Given the description of an element on the screen output the (x, y) to click on. 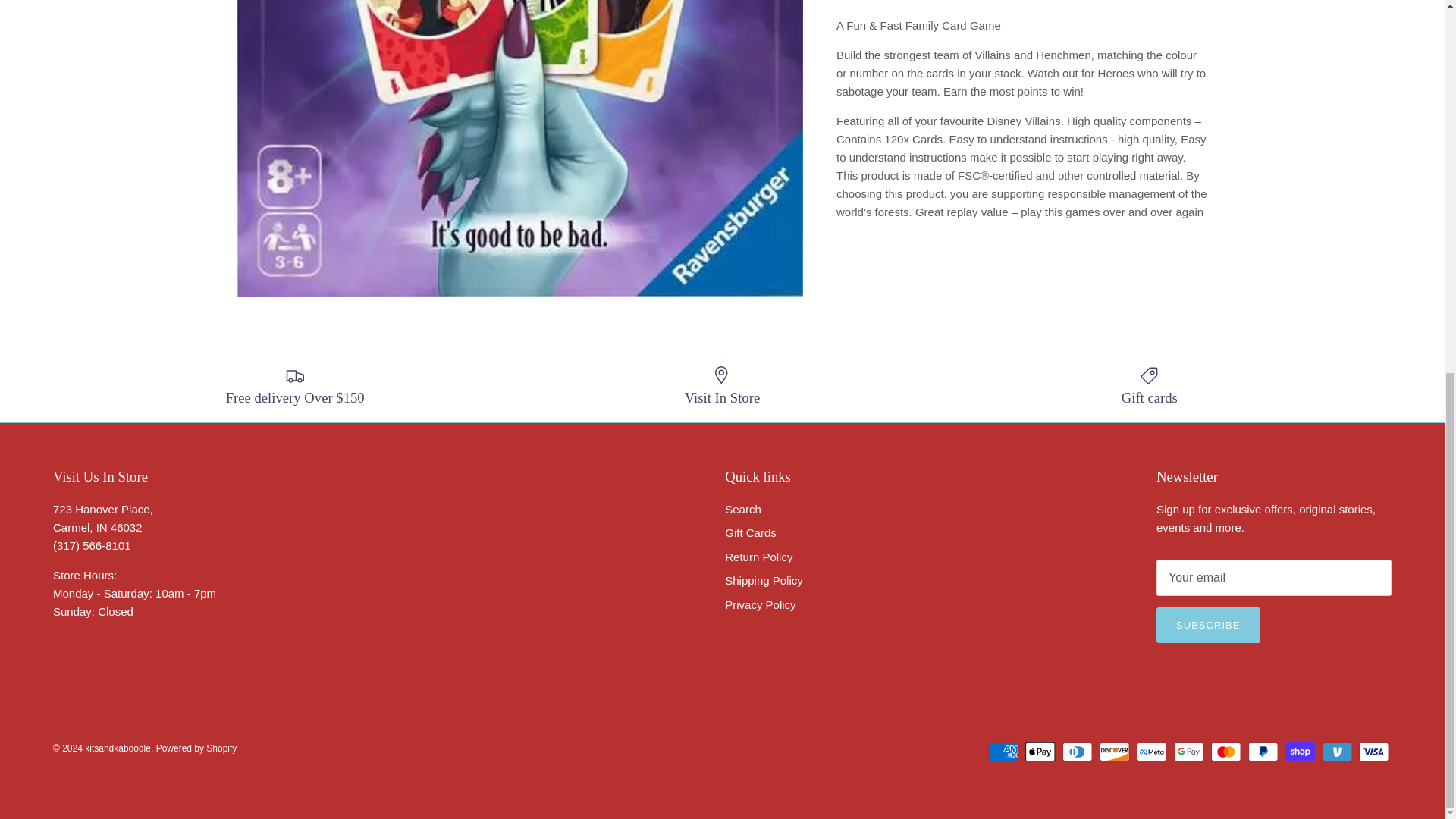
Mastercard (1225, 751)
Shop Pay (1299, 751)
Google Pay (1188, 751)
Meta Pay (1151, 751)
PayPal (1262, 751)
American Express (1002, 751)
Apple Pay (1040, 751)
Discover (1114, 751)
Diners Club (1077, 751)
